Given the description of an element on the screen output the (x, y) to click on. 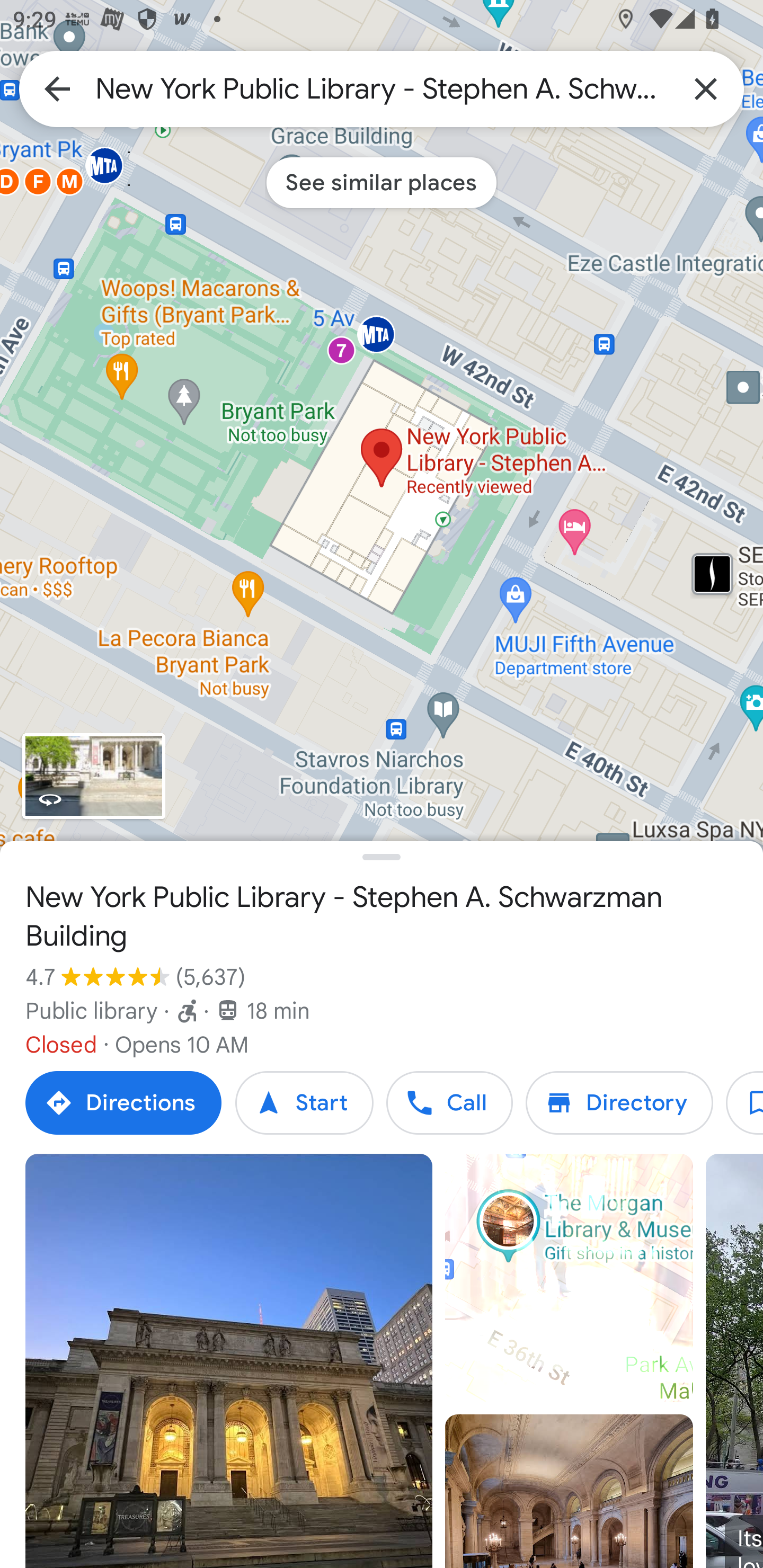
Back (57, 88)
Clear (705, 88)
See similar places (381, 182)
Start Start Start (304, 1102)
Directory Directory Directory (619, 1102)
Photo (228, 1361)
Video (568, 1277)
Photo (568, 1491)
